Given the description of an element on the screen output the (x, y) to click on. 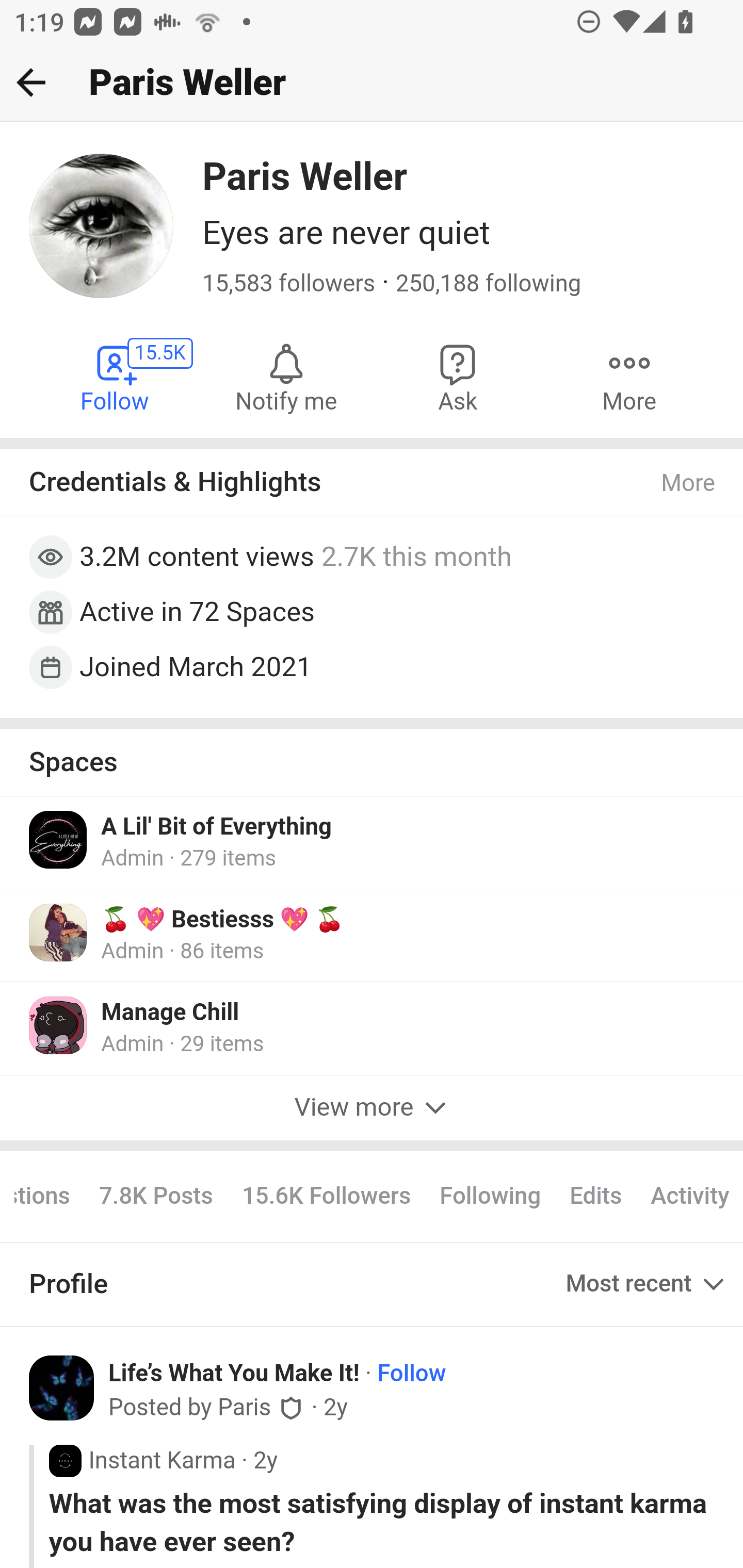
Back Paris Weller (371, 82)
Back (30, 82)
15,583 followers (289, 284)
250,188 following (487, 284)
Follow Paris Weller 15.5K Follow (115, 376)
Notify me (285, 376)
Ask (458, 376)
More (628, 376)
More (688, 482)
Icon for A Lil' Bit of Everything (58, 838)
A Lil' Bit of Everything (217, 827)
Icon for 🍒 💖 Bestiesss 💖 🍒 (58, 932)
🍒 💖 Bestiesss 💖 🍒 (222, 920)
Icon for Manage Chill (58, 1025)
Manage Chill (170, 1013)
View more (371, 1108)
19 Questions (49, 1195)
7.8K Posts (155, 1195)
15.6K Followers (325, 1195)
Following (490, 1195)
Edits (595, 1195)
Activity (689, 1195)
Most recent (647, 1284)
Icon for Life’s What You Make It! (61, 1388)
Life’s What You Make It! (234, 1372)
Follow (411, 1373)
2y 2 y (334, 1407)
2y 2 y (264, 1460)
